Given the description of an element on the screen output the (x, y) to click on. 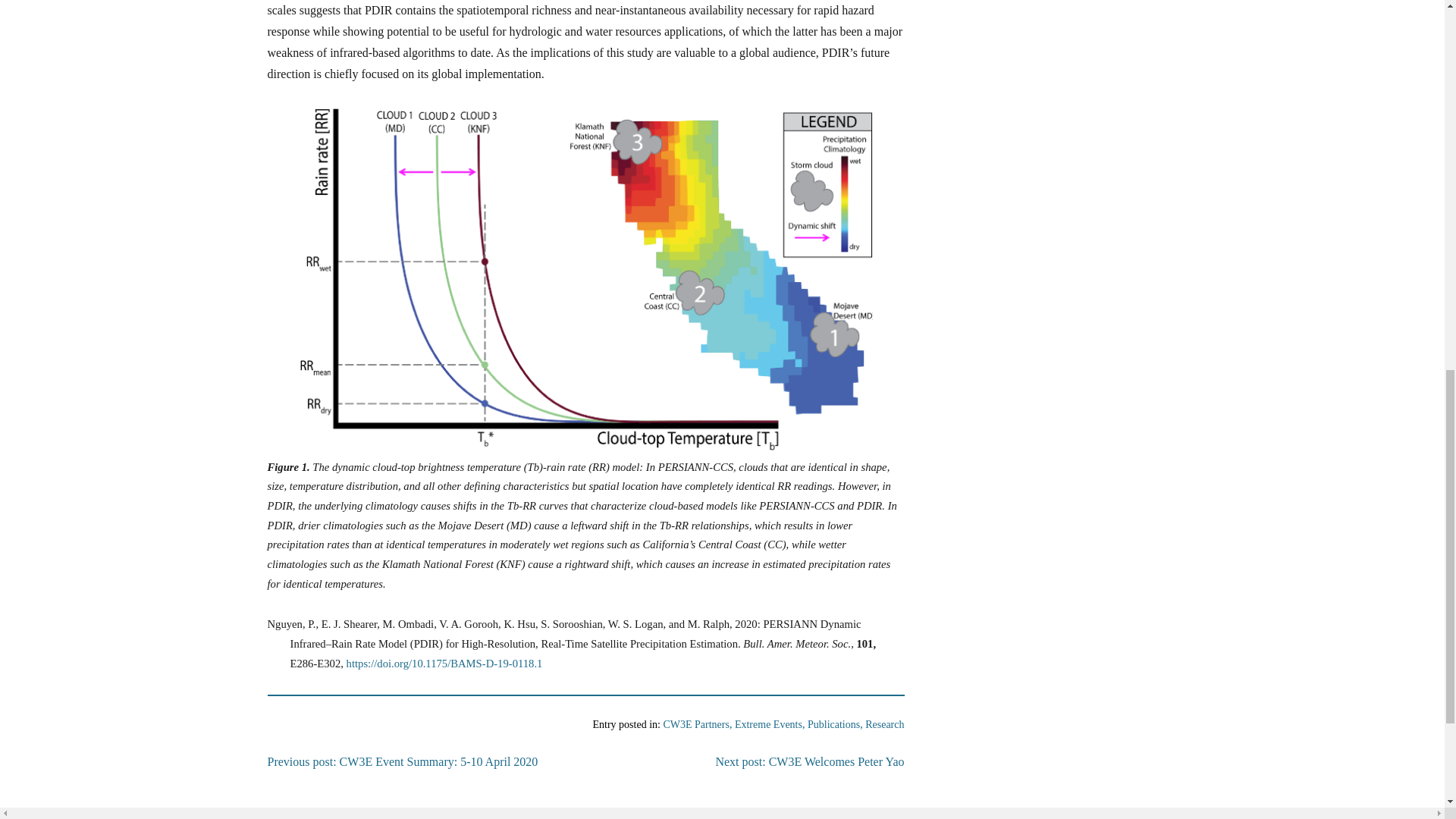
Previous post: CW3E Event Summary: 5-10 April 2020 (401, 761)
Next post: CW3E Welcomes Peter Yao (809, 761)
